Given the description of an element on the screen output the (x, y) to click on. 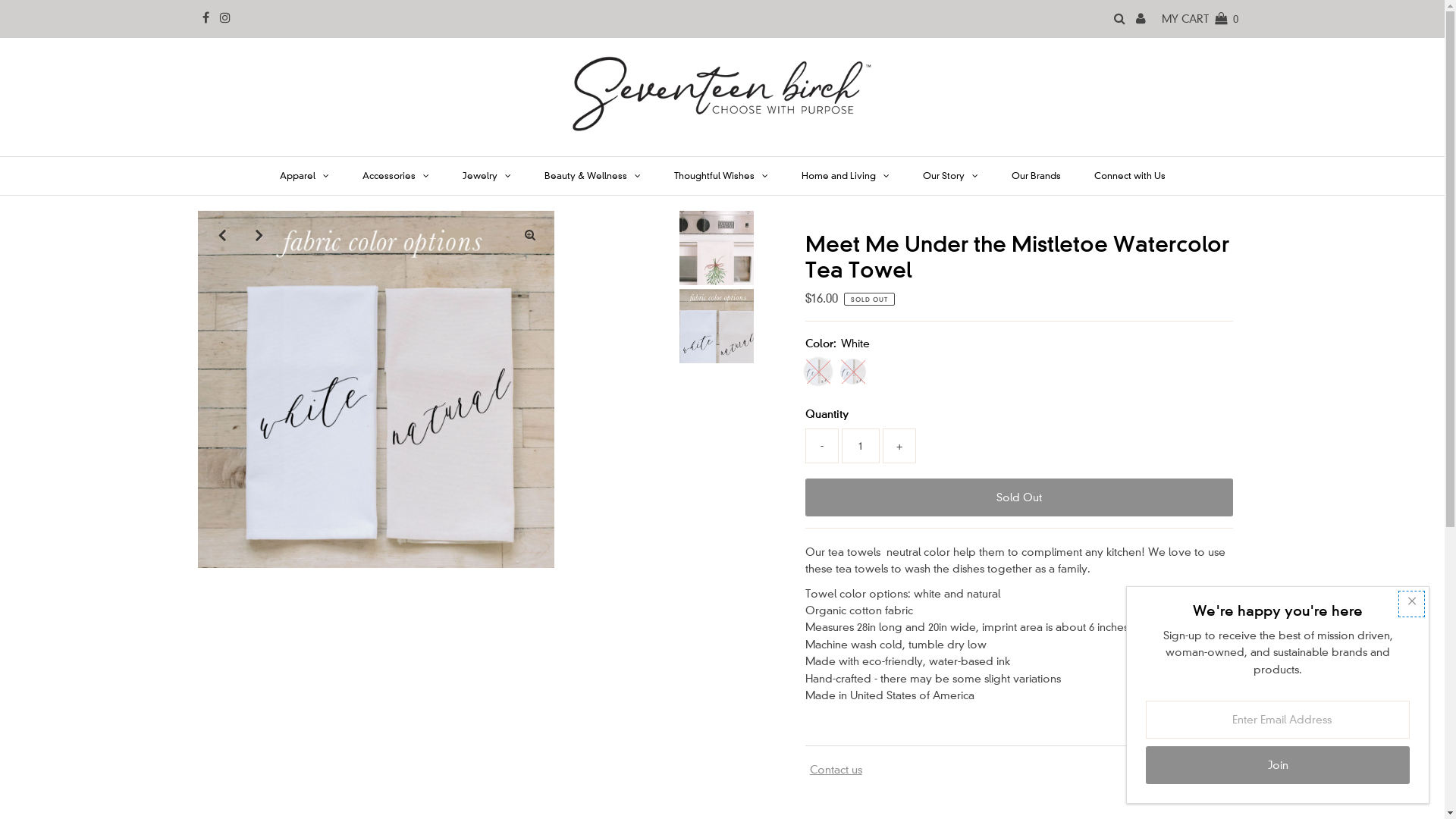
Our Story Element type: text (949, 175)
MY CART    0 Element type: text (1199, 18)
Our Brands Element type: text (1036, 175)
Beauty & Wellness Element type: text (592, 175)
Connect with Us Element type: text (1128, 175)
Contact us Element type: text (835, 769)
Apparel Element type: text (303, 175)
+ Element type: text (899, 445)
Thoughtful Wishes Element type: text (720, 175)
Join Element type: text (1277, 765)
Accessories Element type: text (395, 175)
Home and Living Element type: text (844, 175)
- Element type: text (821, 445)
Sold Out Element type: text (1019, 497)
Jewelry Element type: text (486, 175)
